Given the description of an element on the screen output the (x, y) to click on. 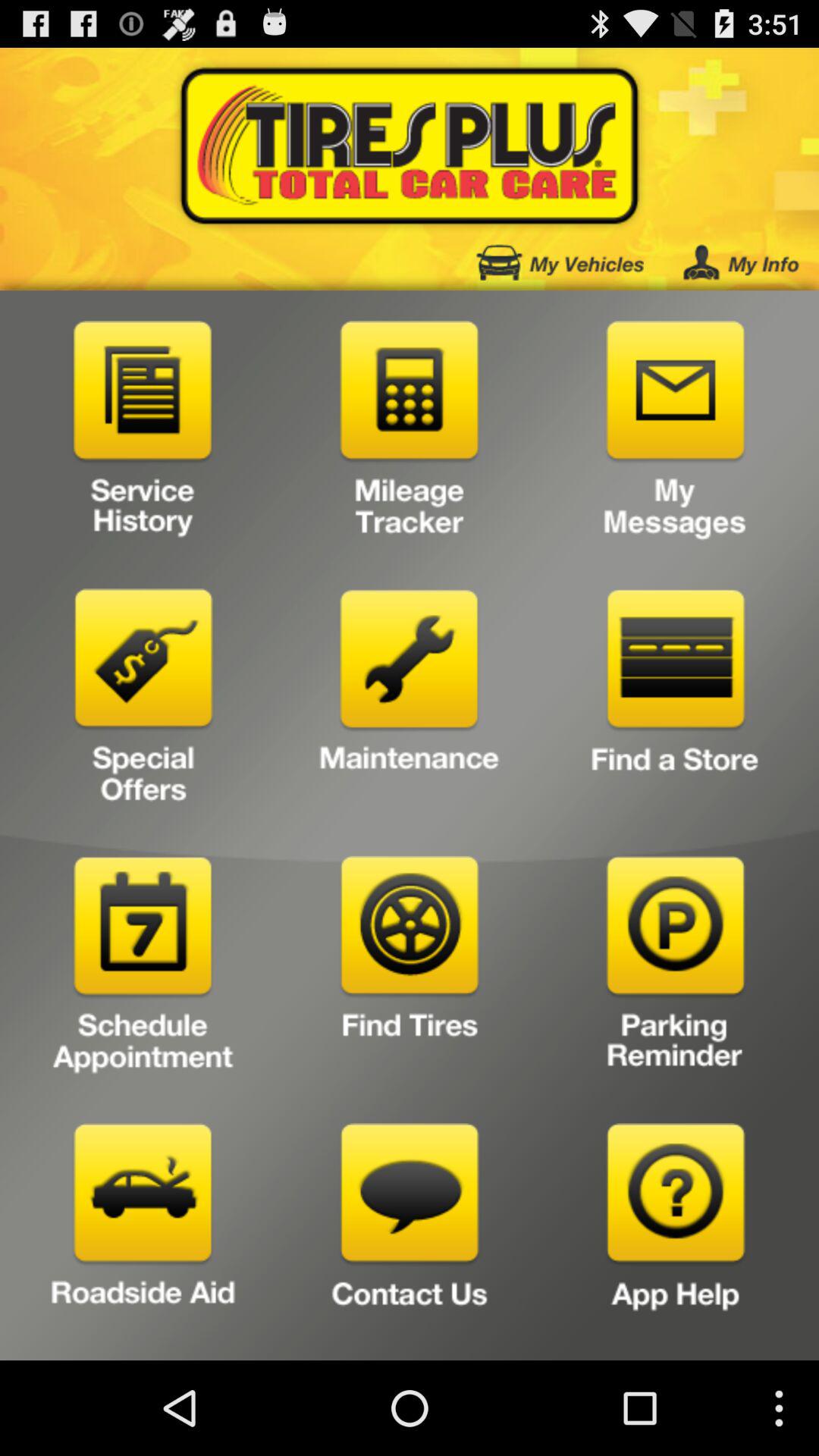
view app help (675, 1236)
